Given the description of an element on the screen output the (x, y) to click on. 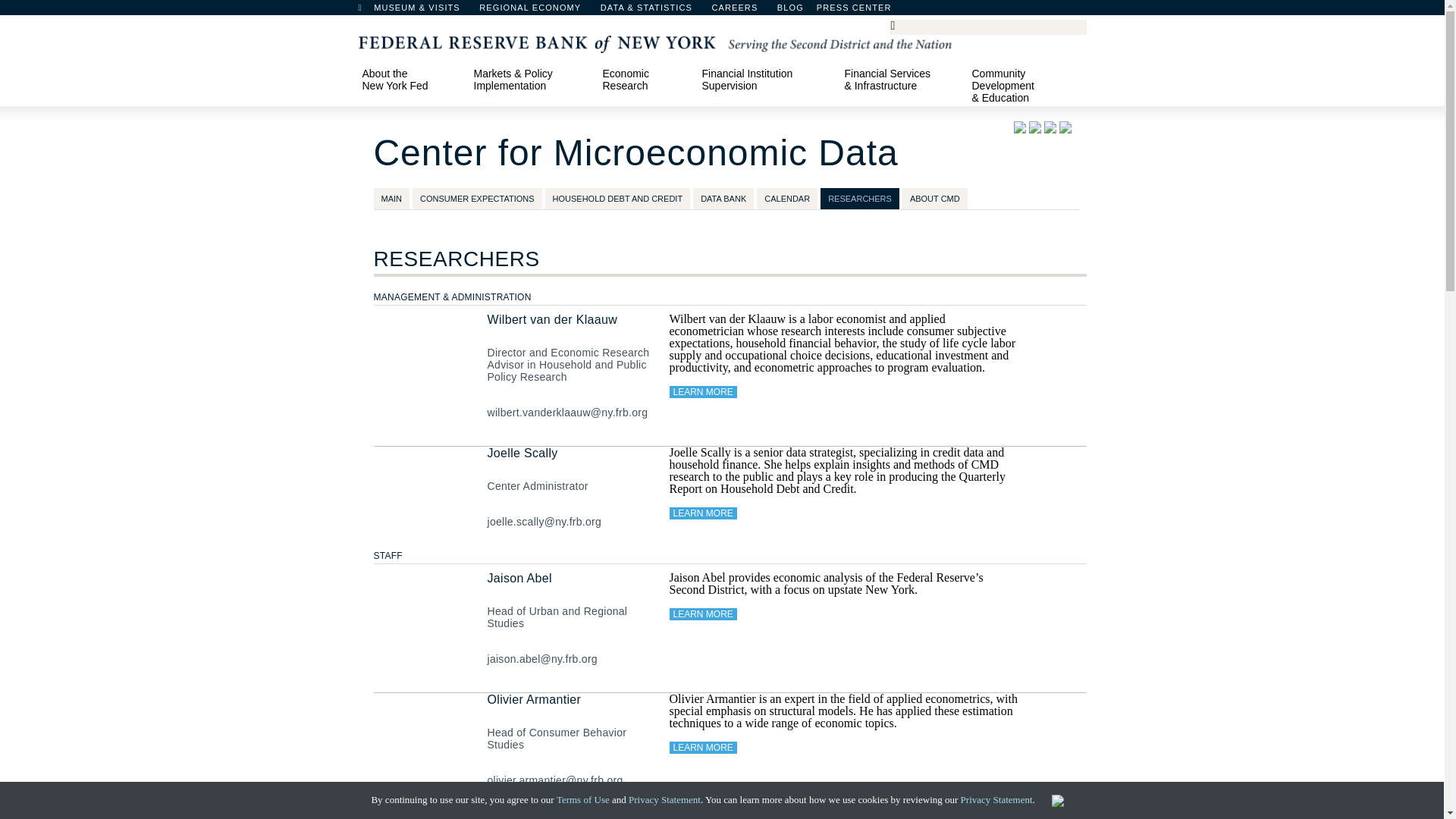
Regional Economy (537, 11)
Federal Reserve Bank of New York (654, 42)
Liberty Street Economics Blog (830, 11)
Home (367, 11)
About the New York Fed (411, 79)
PRESS CENTER (861, 11)
BLOG (830, 11)
CAREERS (742, 11)
Search Box (985, 26)
Careers (742, 11)
